Given the description of an element on the screen output the (x, y) to click on. 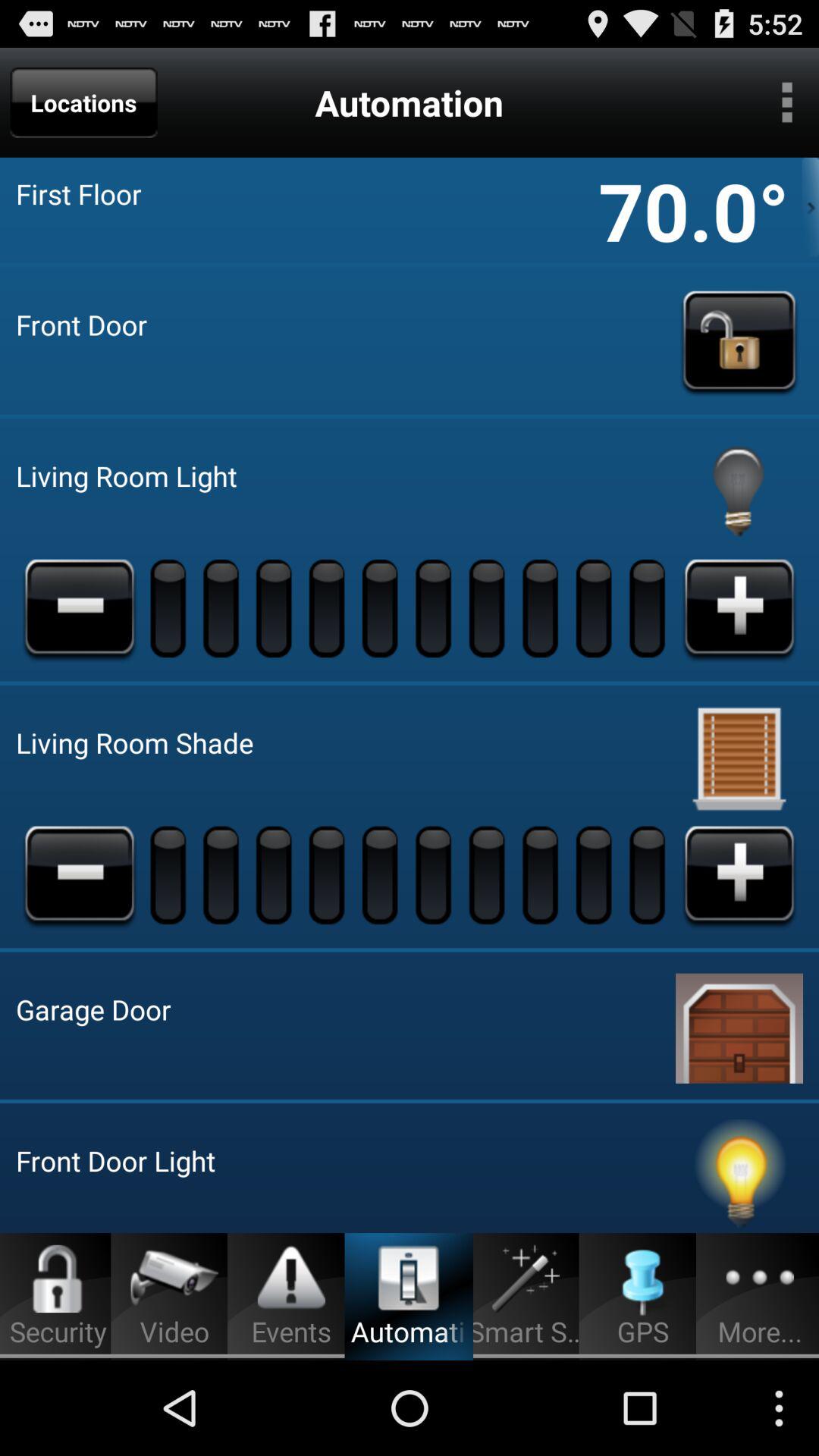
minus (79, 607)
